Given the description of an element on the screen output the (x, y) to click on. 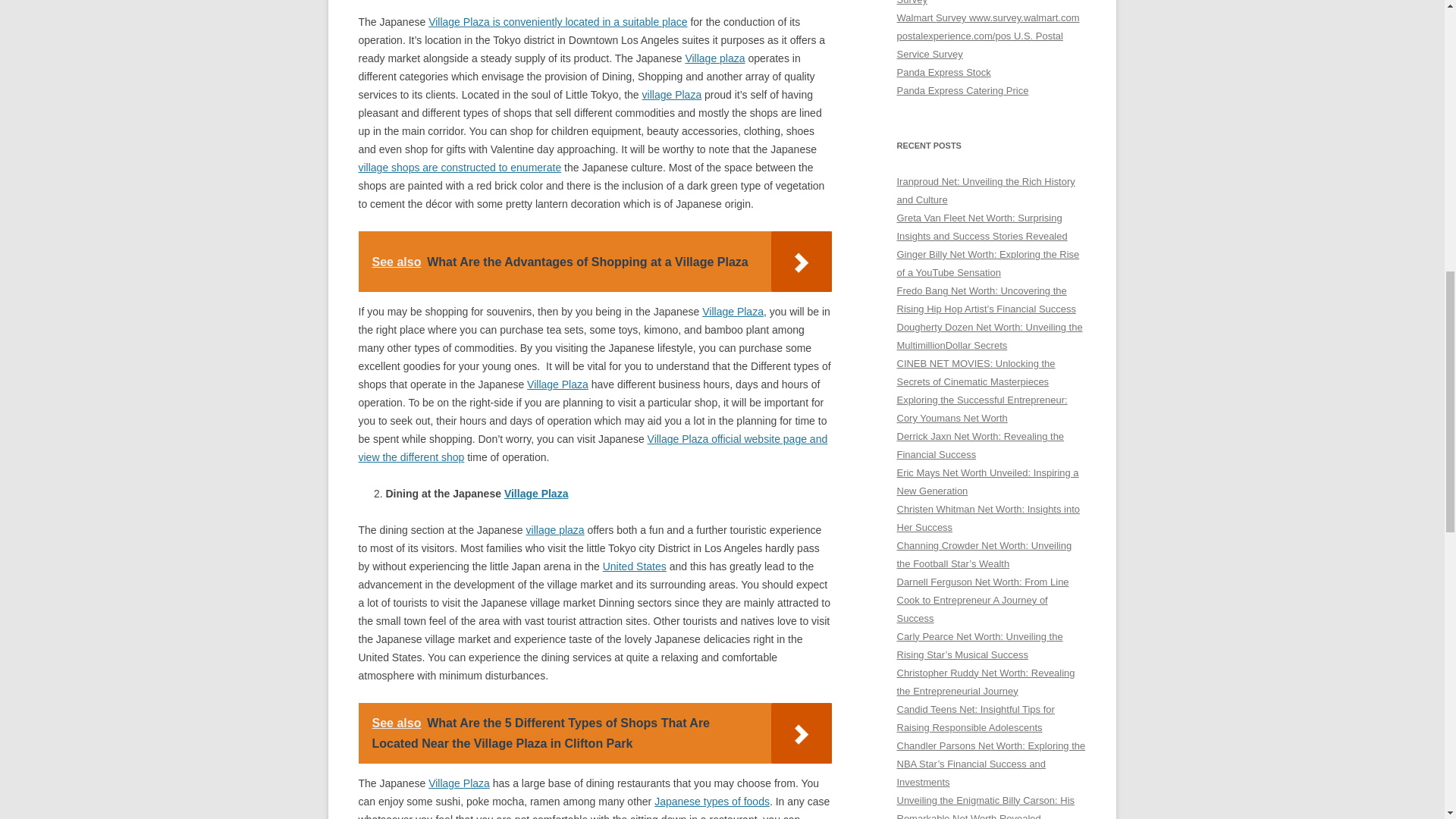
Village plaza (714, 58)
village Plaza (671, 94)
United States (634, 566)
Japanese types of foods (711, 801)
Village Plaza is conveniently located in a suitable place (557, 21)
Village Plaza (731, 311)
Village Plaza (458, 783)
Village Plaza (536, 493)
village plaza (555, 530)
Village Plaza (557, 384)
village shops are constructed to enumerate (459, 167)
